Given the description of an element on the screen output the (x, y) to click on. 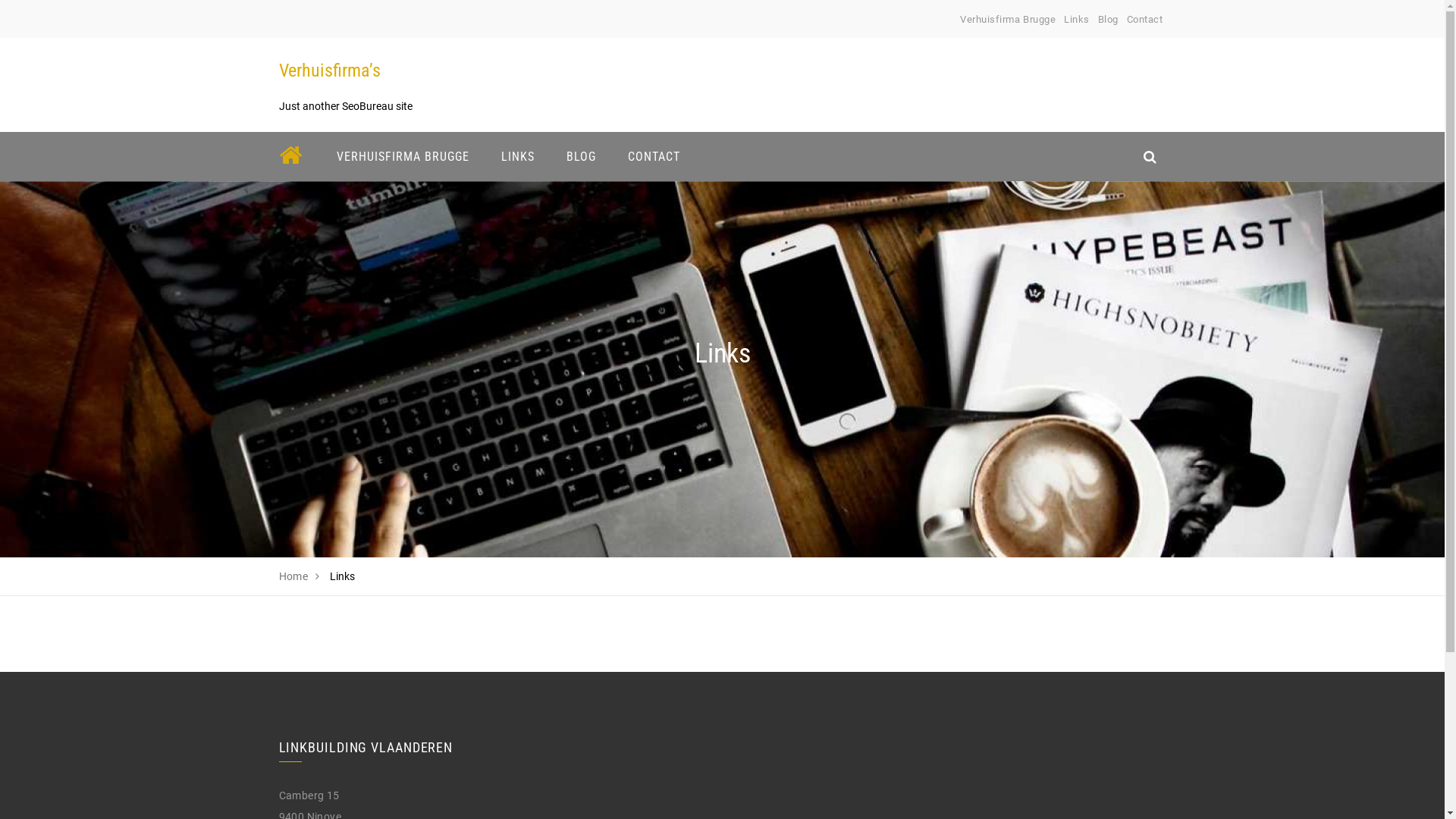
search_icon Element type: hover (1148, 156)
BLOG Element type: text (580, 156)
CONTACT Element type: text (653, 156)
Blog Element type: text (1108, 19)
Links Element type: text (1076, 19)
Contact Element type: text (1144, 19)
Home Element type: text (293, 576)
VERHUISFIRMA BRUGGE Element type: text (402, 156)
LINKS Element type: text (517, 156)
Verhuisfirma Brugge Element type: text (1007, 19)
